Given the description of an element on the screen output the (x, y) to click on. 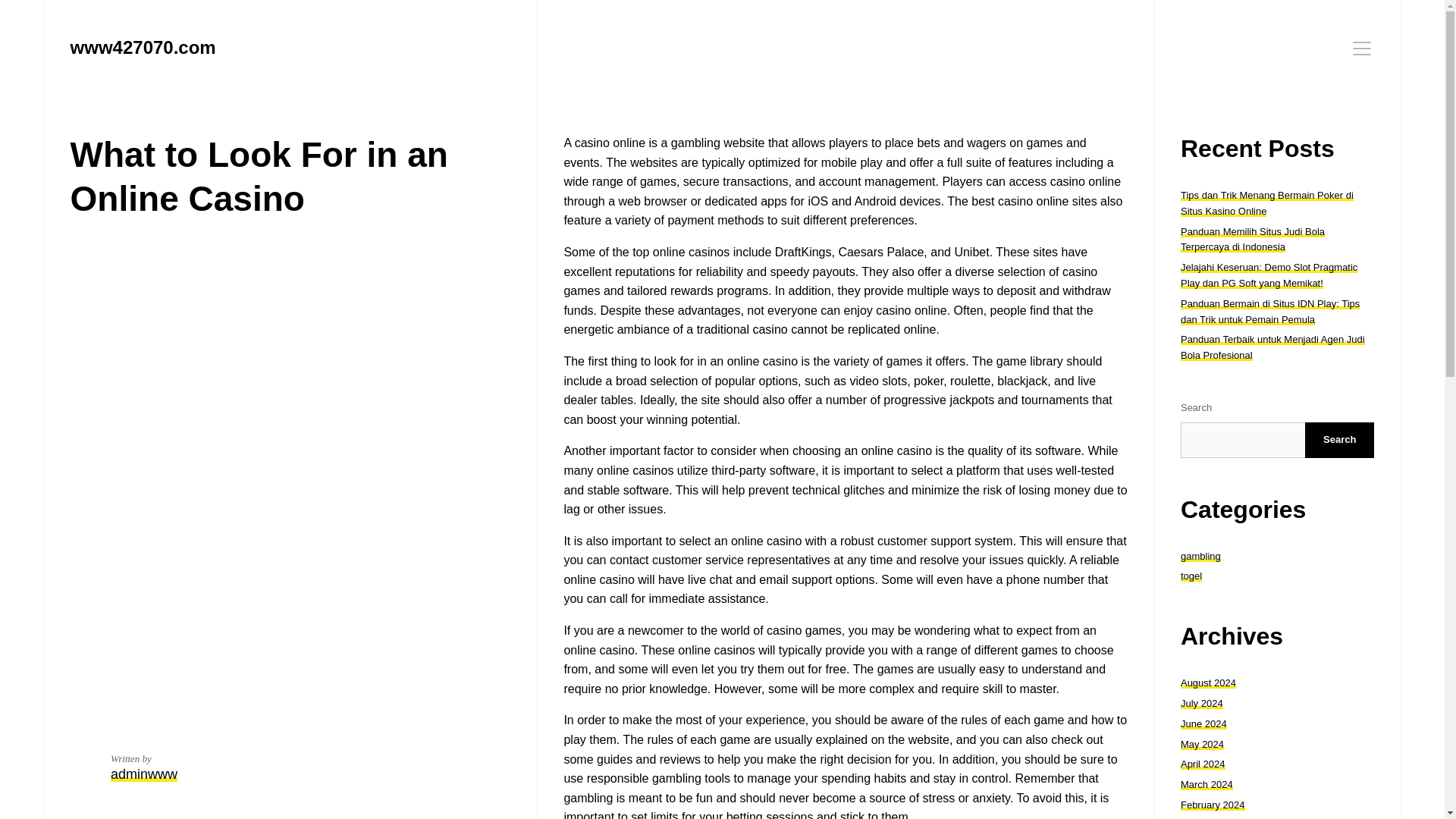
April 2024 (1202, 763)
togel (1191, 575)
July 2024 (1201, 703)
February 2024 (1212, 804)
March 2024 (1206, 784)
August 2024 (1208, 682)
Menu (1361, 48)
June 2024 (1203, 723)
Panduan Memilih Situs Judi Bola Terpercaya di Indonesia (1252, 239)
